Given the description of an element on the screen output the (x, y) to click on. 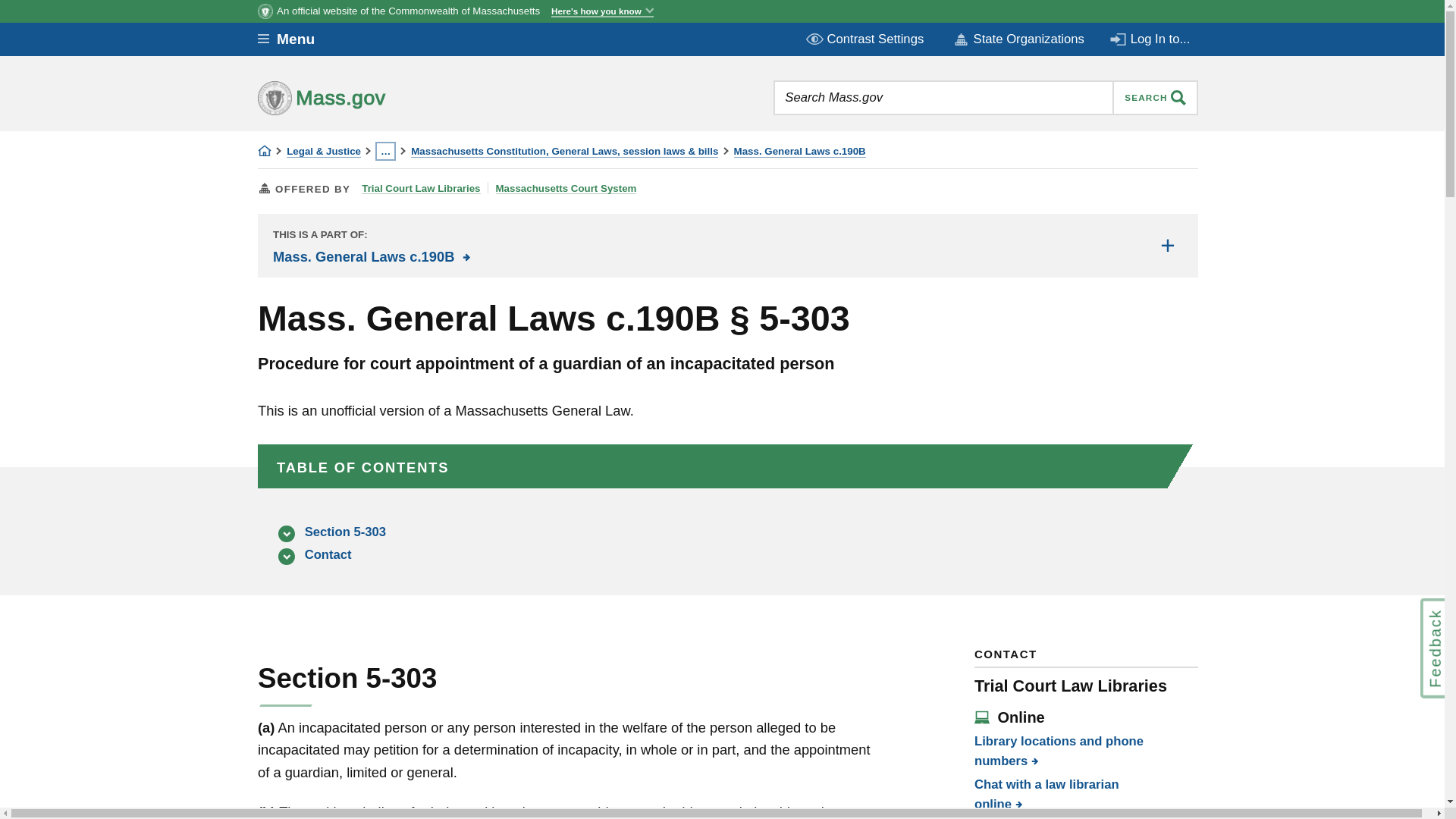
State Organizations (1018, 39)
Contrast Settings (866, 38)
Log In to... (1151, 38)
Menu (297, 39)
Mass.gov home page (369, 97)
